Given the description of an element on the screen output the (x, y) to click on. 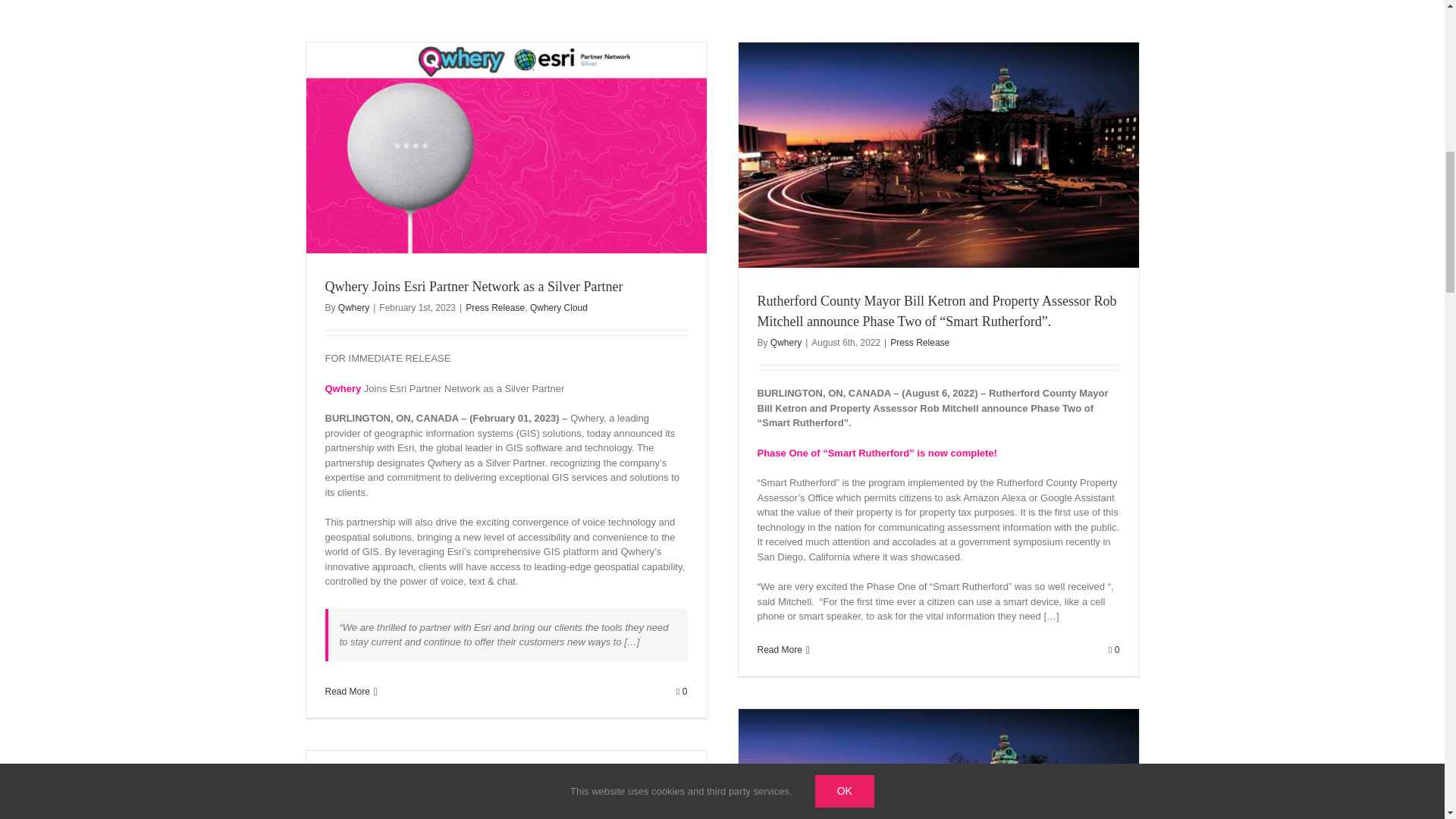
Posts by Qwhery (786, 342)
Posts by Qwhery (353, 307)
Qwhery Joins Esri Partner Network as a Silver Partner (473, 286)
